Given the description of an element on the screen output the (x, y) to click on. 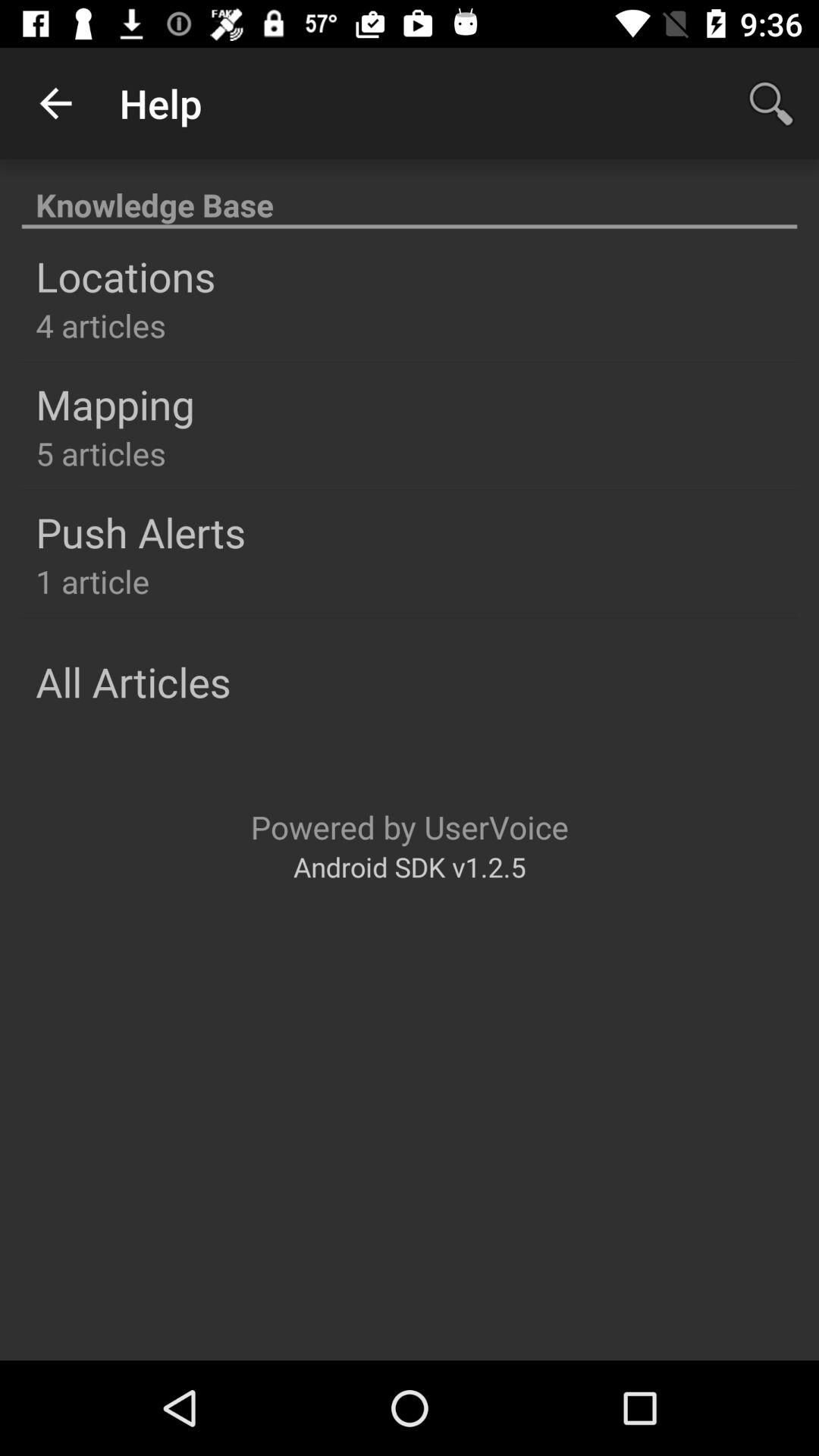
launch the app to the left of help (55, 103)
